Given the description of an element on the screen output the (x, y) to click on. 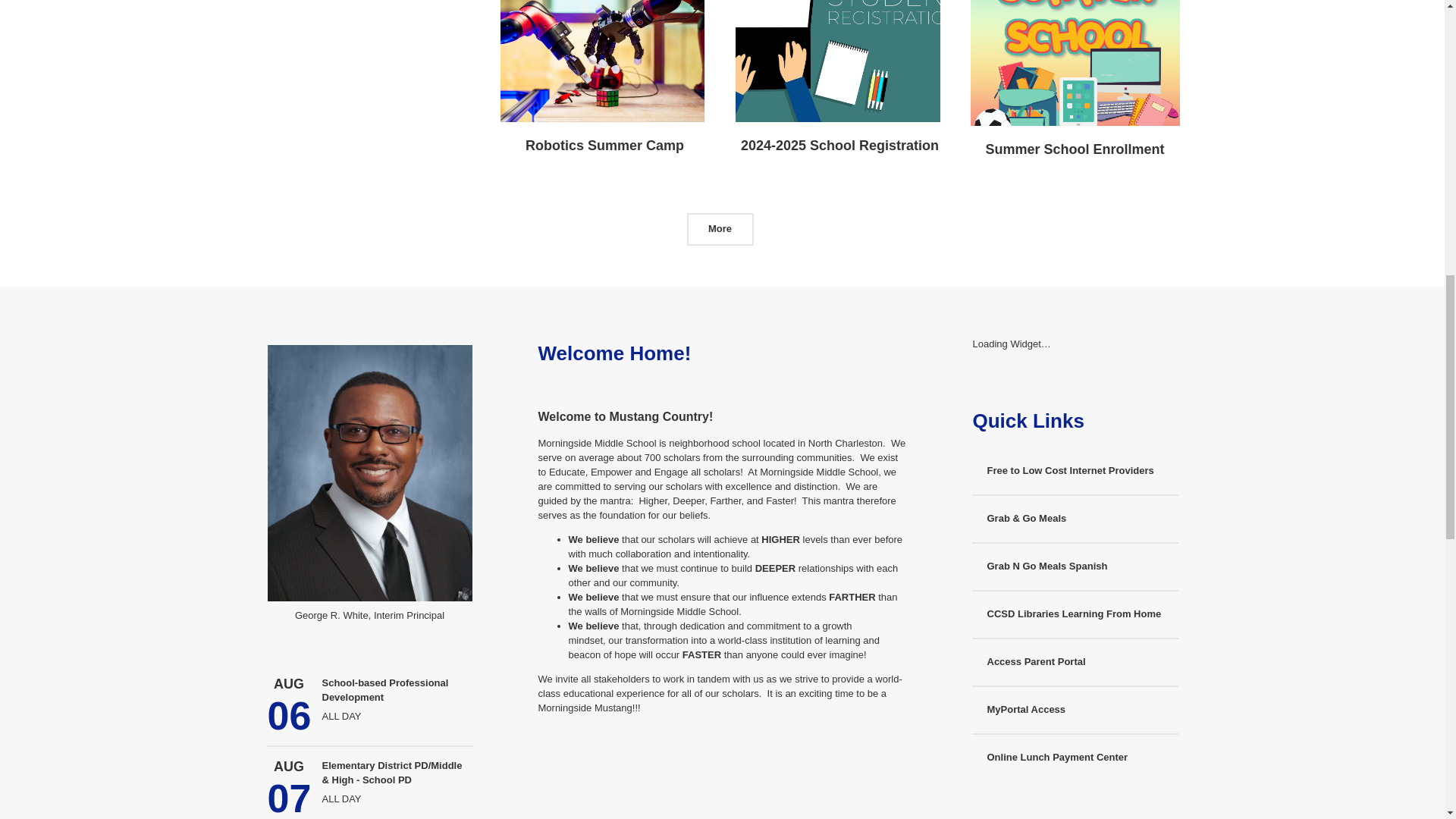
Online Lunch Payment Center (1074, 757)
